Given the description of an element on the screen output the (x, y) to click on. 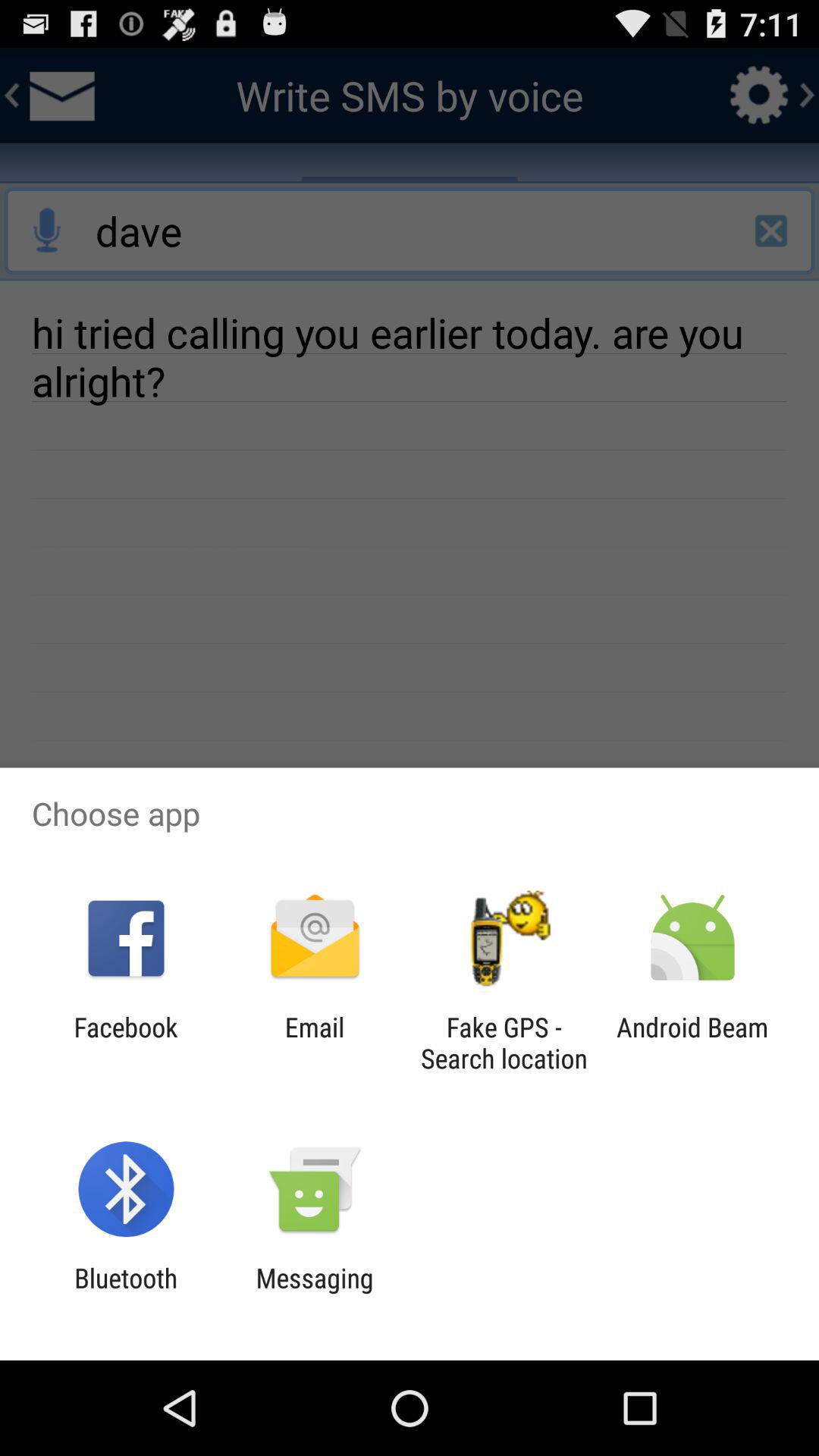
scroll to the android beam (692, 1042)
